Given the description of an element on the screen output the (x, y) to click on. 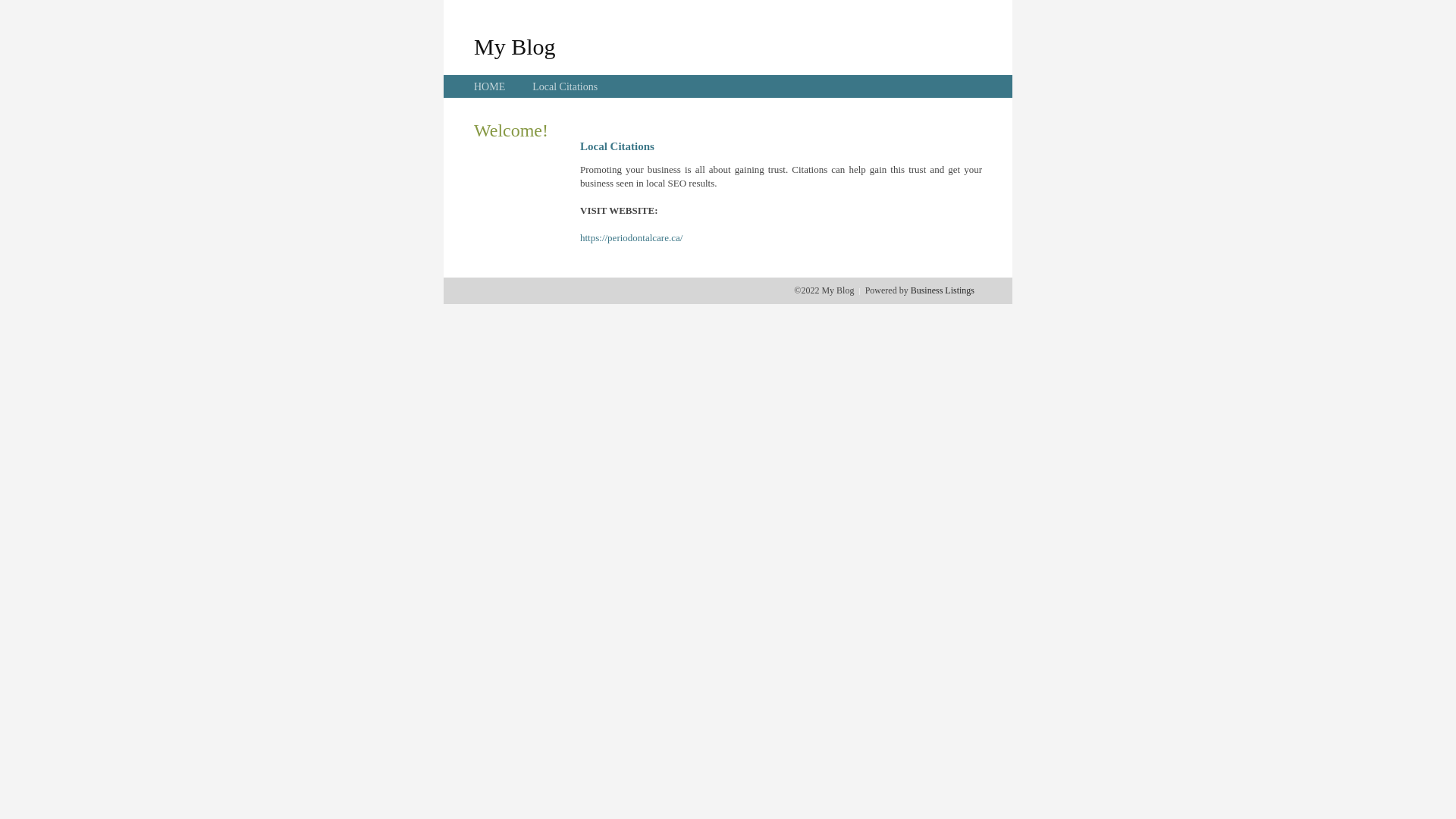
HOME Element type: text (489, 86)
Business Listings Element type: text (942, 290)
My Blog Element type: text (514, 46)
Local Citations Element type: text (564, 86)
https://periodontalcare.ca/ Element type: text (631, 237)
